Given the description of an element on the screen output the (x, y) to click on. 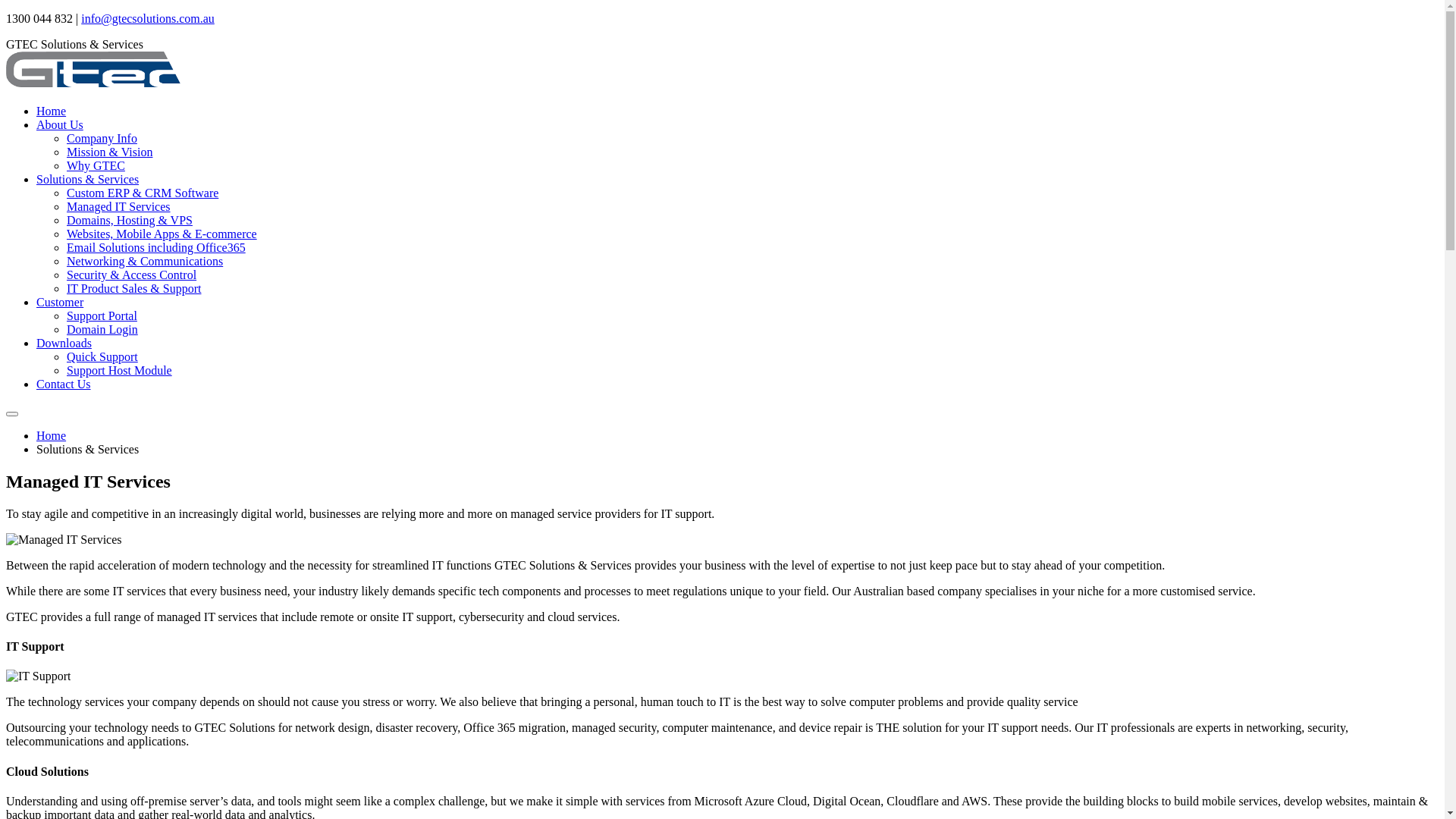
Managed IT Services Element type: text (118, 206)
Why GTEC Element type: text (95, 165)
Mission & Vision Element type: text (109, 151)
Solutions & Services Element type: text (87, 178)
Support Portal Element type: text (101, 315)
Company Info Element type: text (101, 137)
IT Product Sales & Support Element type: text (133, 288)
Security & Access Control Element type: text (131, 274)
Downloads Element type: text (63, 342)
Customer Element type: text (59, 301)
Home Element type: text (50, 435)
Email Solutions including Office365 Element type: text (155, 247)
Contact Us Element type: text (63, 383)
About Us Element type: text (59, 124)
Quick Support Element type: text (102, 356)
Support Host Module Element type: text (119, 370)
Domain Login Element type: text (102, 329)
Custom ERP & CRM Software Element type: text (142, 192)
Websites, Mobile Apps & E-commerce Element type: text (161, 233)
Domains, Hosting & VPS Element type: text (129, 219)
Networking & Communications Element type: text (144, 260)
Home Element type: text (50, 110)
info@gtecsolutions.com.au Element type: text (147, 18)
